Given the description of an element on the screen output the (x, y) to click on. 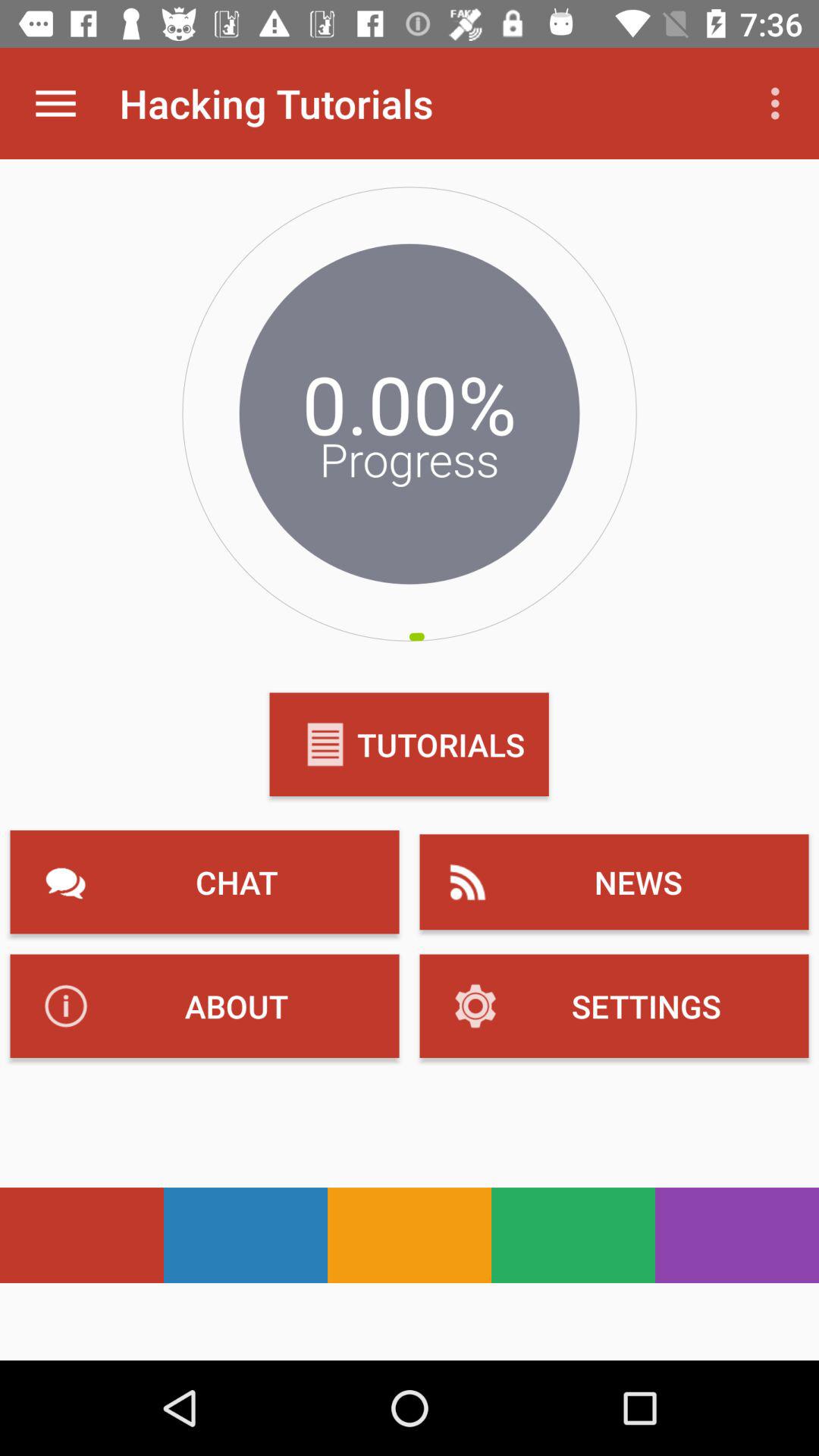
select the text which is to the immediate right  of about (614, 1006)
select the more icon which is on top right hand side (779, 103)
select purple color which is at bottom right side of the page (737, 1235)
click on the button which has the text about (204, 1006)
